Given the description of an element on the screen output the (x, y) to click on. 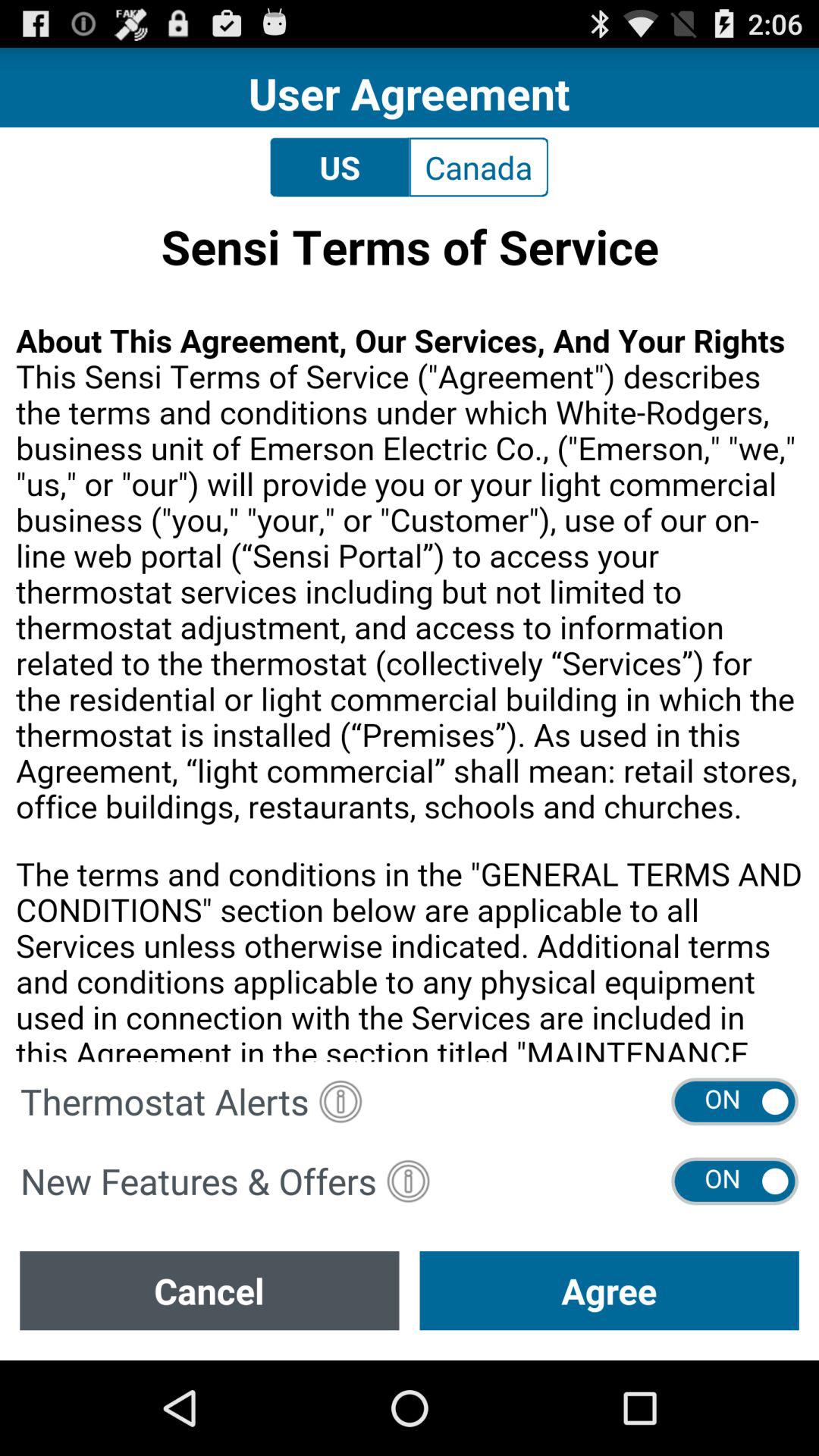
terms of service (409, 634)
